Given the description of an element on the screen output the (x, y) to click on. 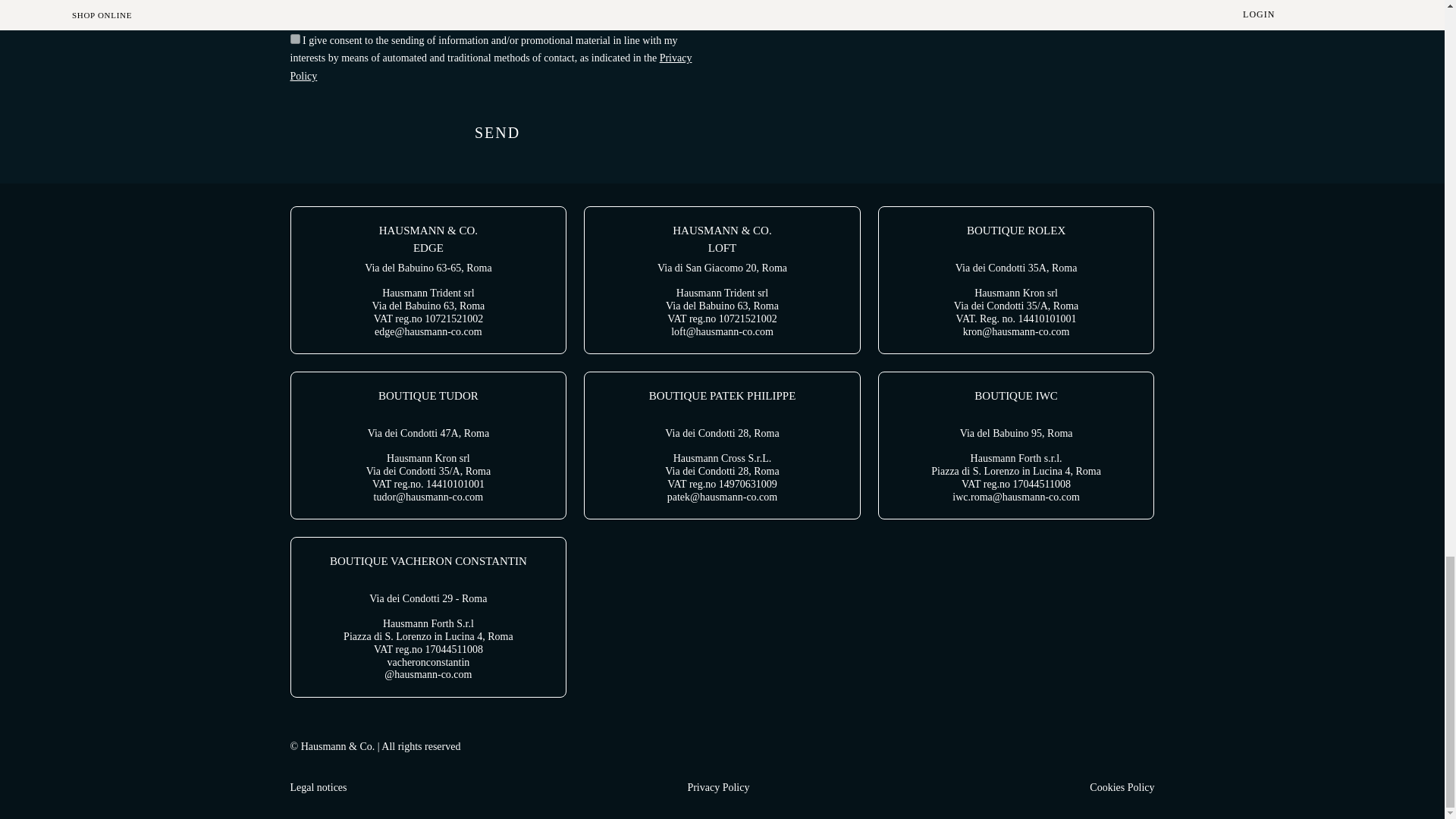
1 (294, 16)
Send (497, 132)
1 (294, 39)
